Given the description of an element on the screen output the (x, y) to click on. 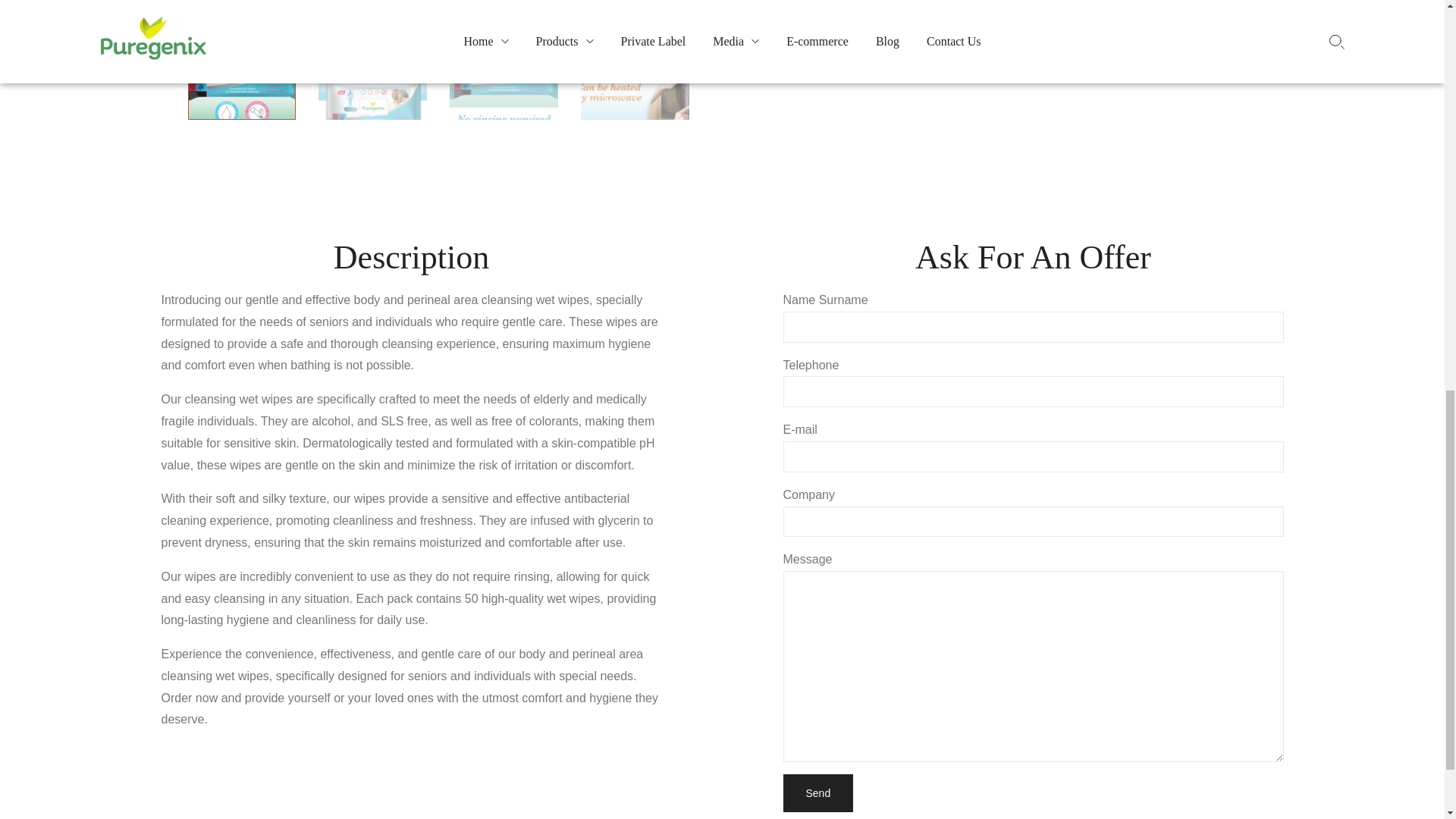
Send (818, 792)
